Given the description of an element on the screen output the (x, y) to click on. 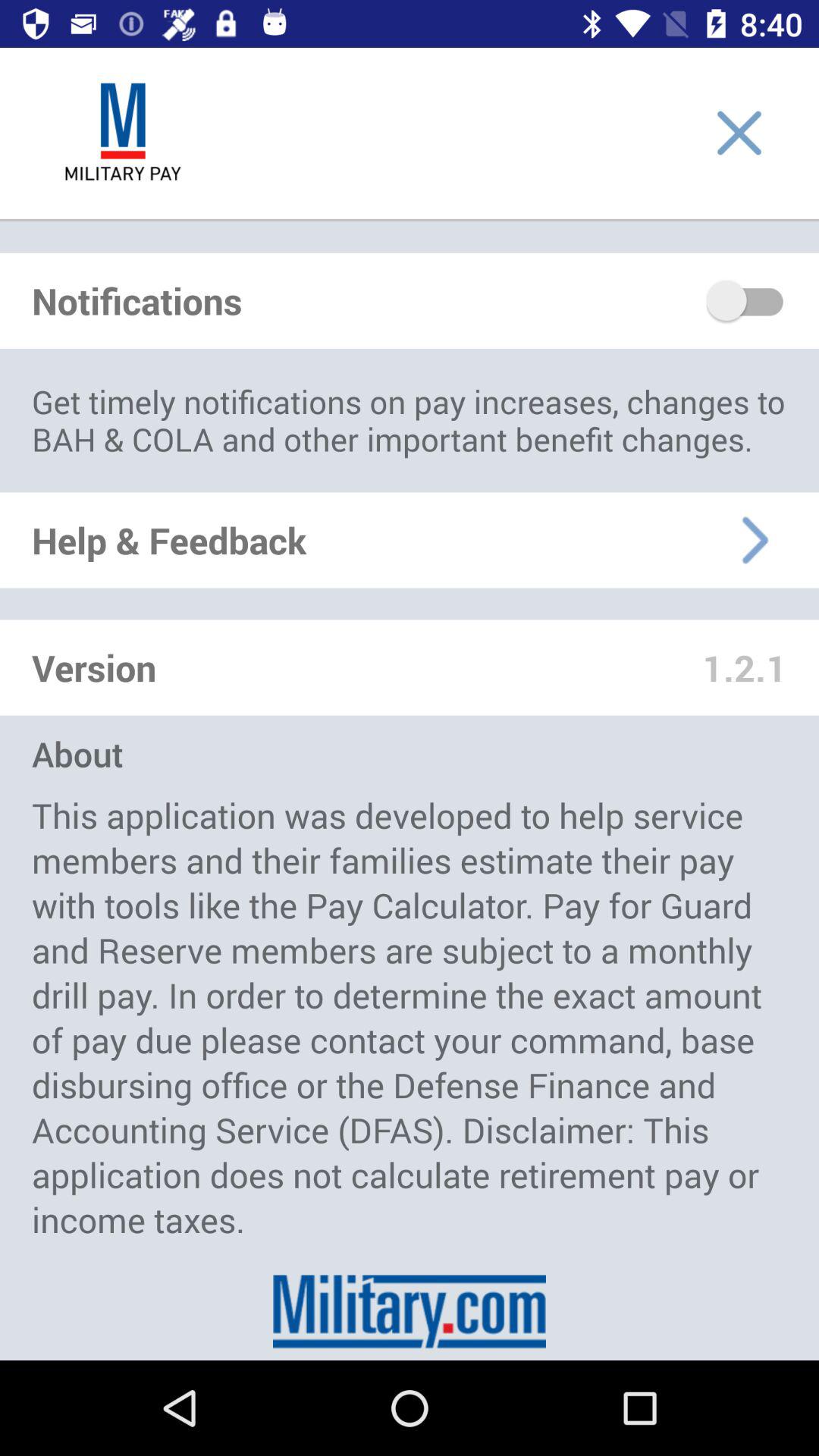
back to military pay home (123, 132)
